Given the description of an element on the screen output the (x, y) to click on. 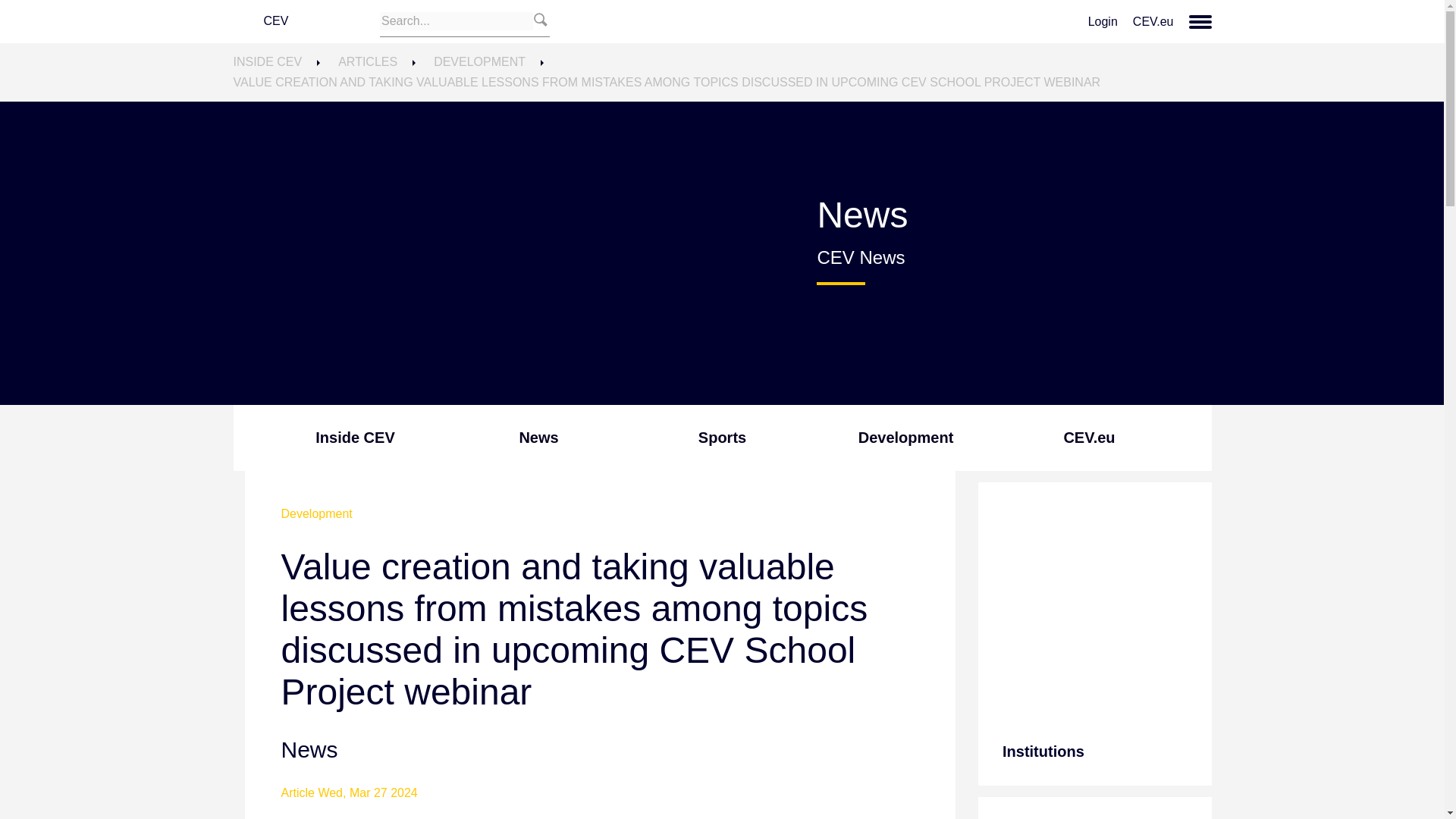
CEV (306, 21)
CEV.eu (1153, 21)
Login (1102, 21)
Menu (1200, 21)
